Given the description of an element on the screen output the (x, y) to click on. 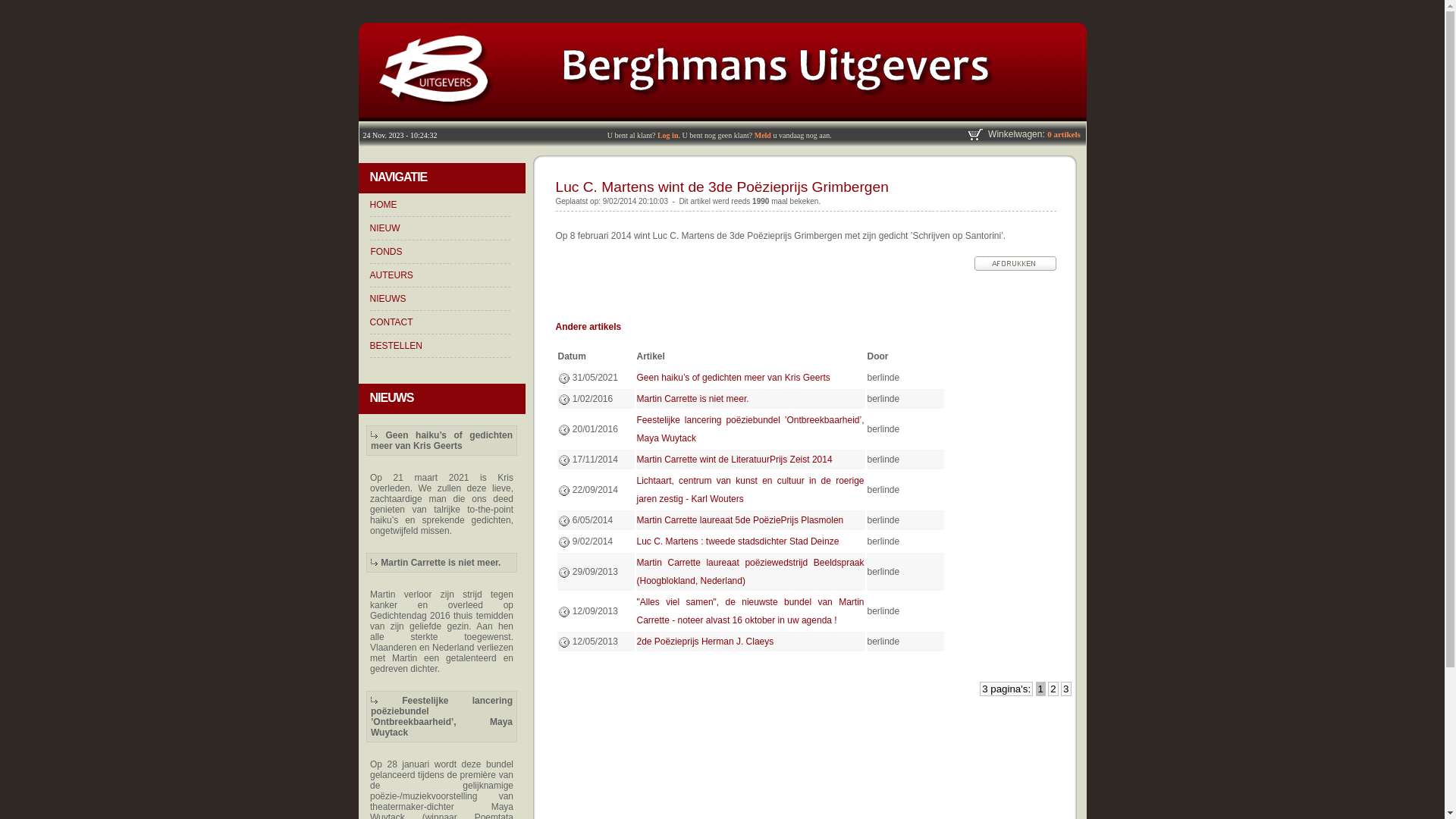
NIEUWS Element type: text (388, 298)
Martin Carrette is niet meer. Element type: text (693, 398)
NIEUW Element type: text (385, 227)
AUTEURS Element type: text (391, 274)
Meld Element type: text (762, 134)
FONDS Element type: text (385, 251)
CONTACT Element type: text (391, 321)
3 Element type: text (1065, 688)
2 Element type: text (1052, 688)
HOME Element type: text (383, 204)
Martin Carrette wint de LiteratuurPrijs Zeist 2014 Element type: text (734, 459)
Luc C. Martens : tweede stadsdichter Stad Deinze Element type: text (738, 541)
Log in Element type: text (667, 134)
BESTELLEN Element type: text (396, 345)
